Given the description of an element on the screen output the (x, y) to click on. 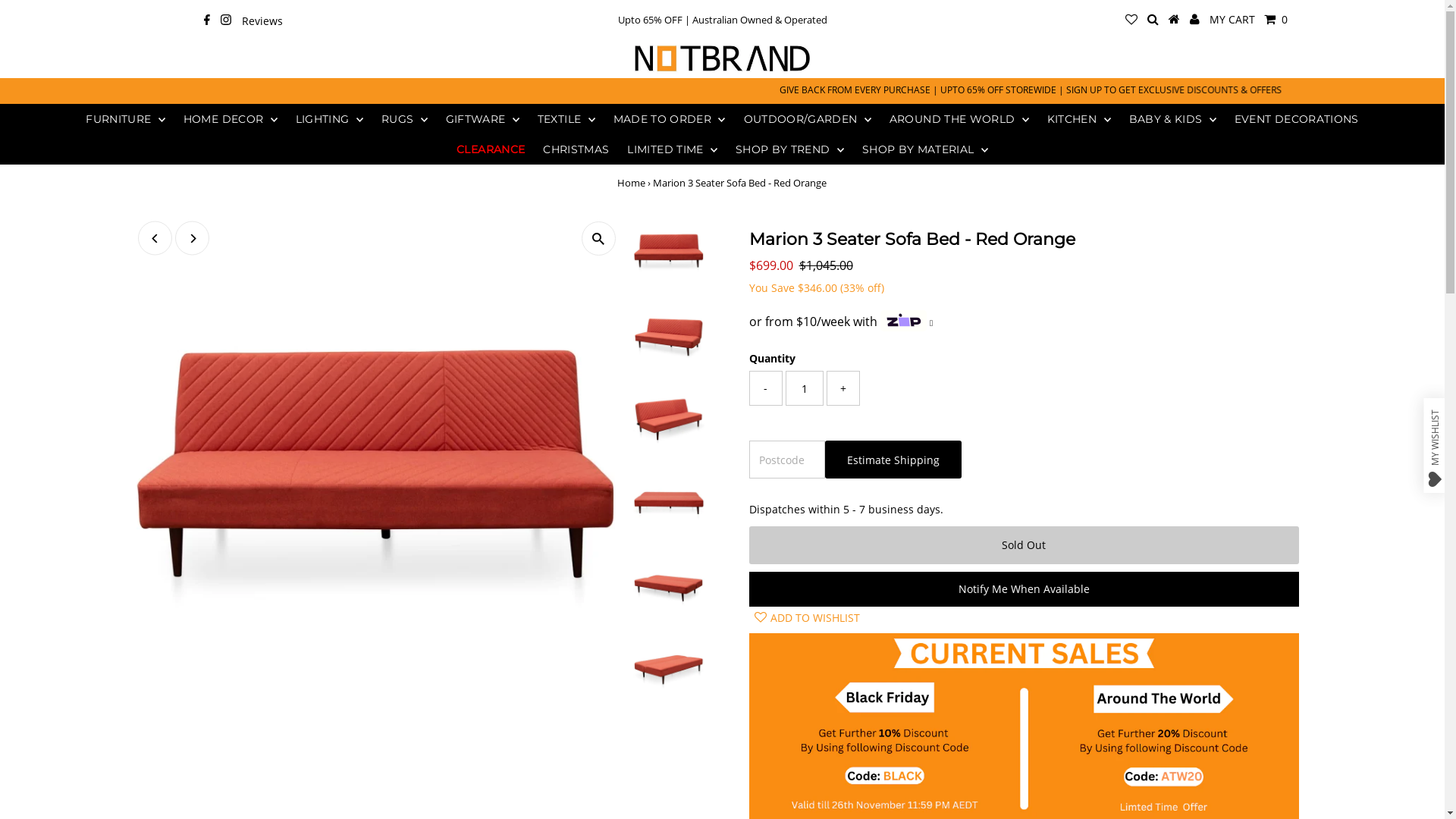
Estimate Shipping Element type: text (893, 459)
- Element type: text (765, 387)
CLEARANCE Element type: text (490, 149)
CHRISTMAS Element type: text (575, 149)
Home Element type: text (631, 182)
+ Element type: text (842, 387)
Reviews Element type: text (262, 21)
Notify Me When Available Element type: text (1024, 588)
ADD TO WISHLIST Element type: text (804, 617)
EVENT DECORATIONS Element type: text (1296, 118)
Click to zoom Element type: hover (598, 238)
MY CART     0 Element type: text (1248, 18)
